Given the description of an element on the screen output the (x, y) to click on. 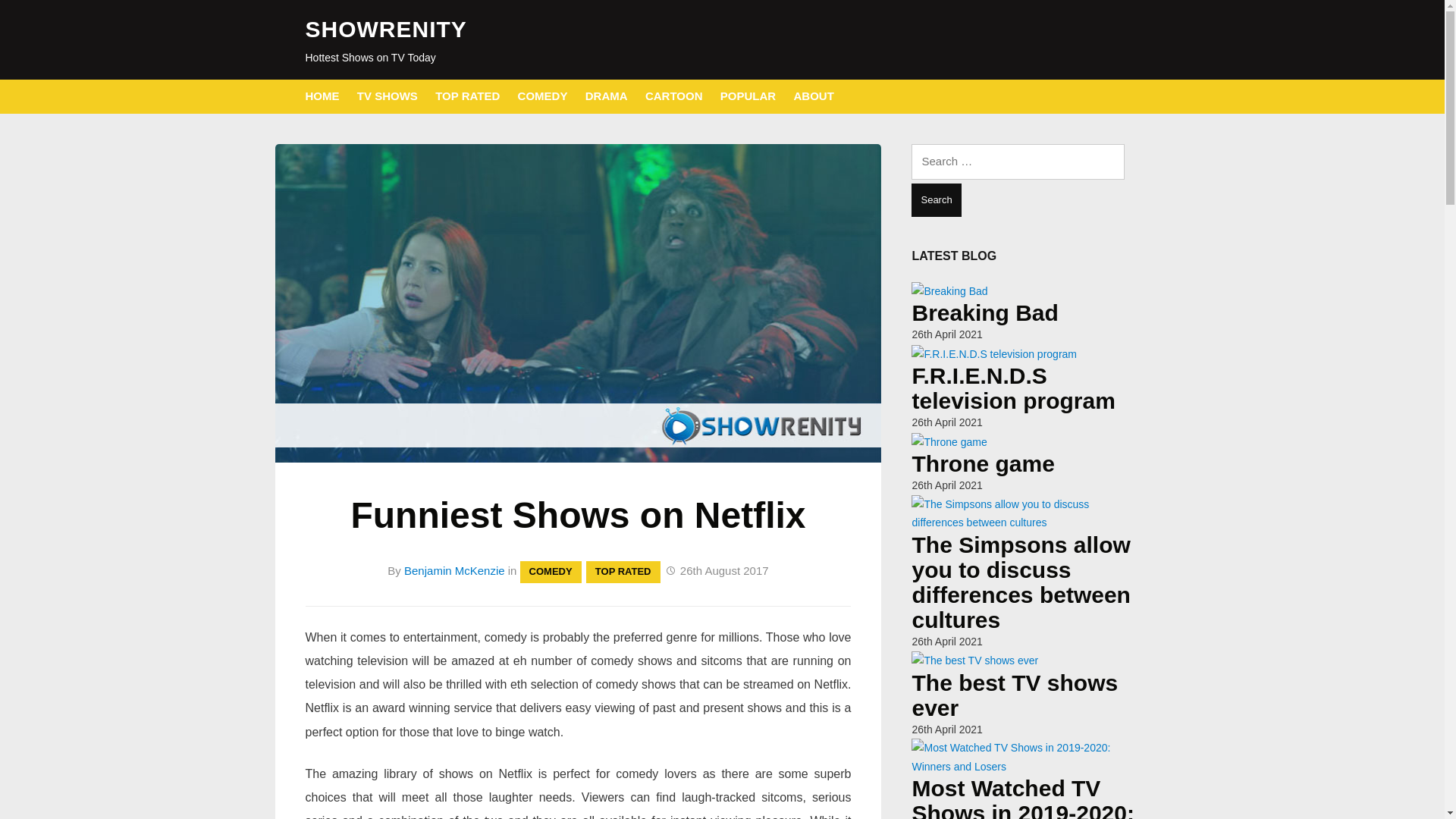
Posts by Benjamin McKenzie (454, 570)
SHOWRENITY (384, 28)
ABOUT (813, 96)
The best TV shows ever (1014, 695)
TV SHOWS (386, 96)
HOME (321, 96)
Search (935, 200)
Breaking Bad (984, 312)
COMEDY (542, 96)
Search (935, 200)
